Given the description of an element on the screen output the (x, y) to click on. 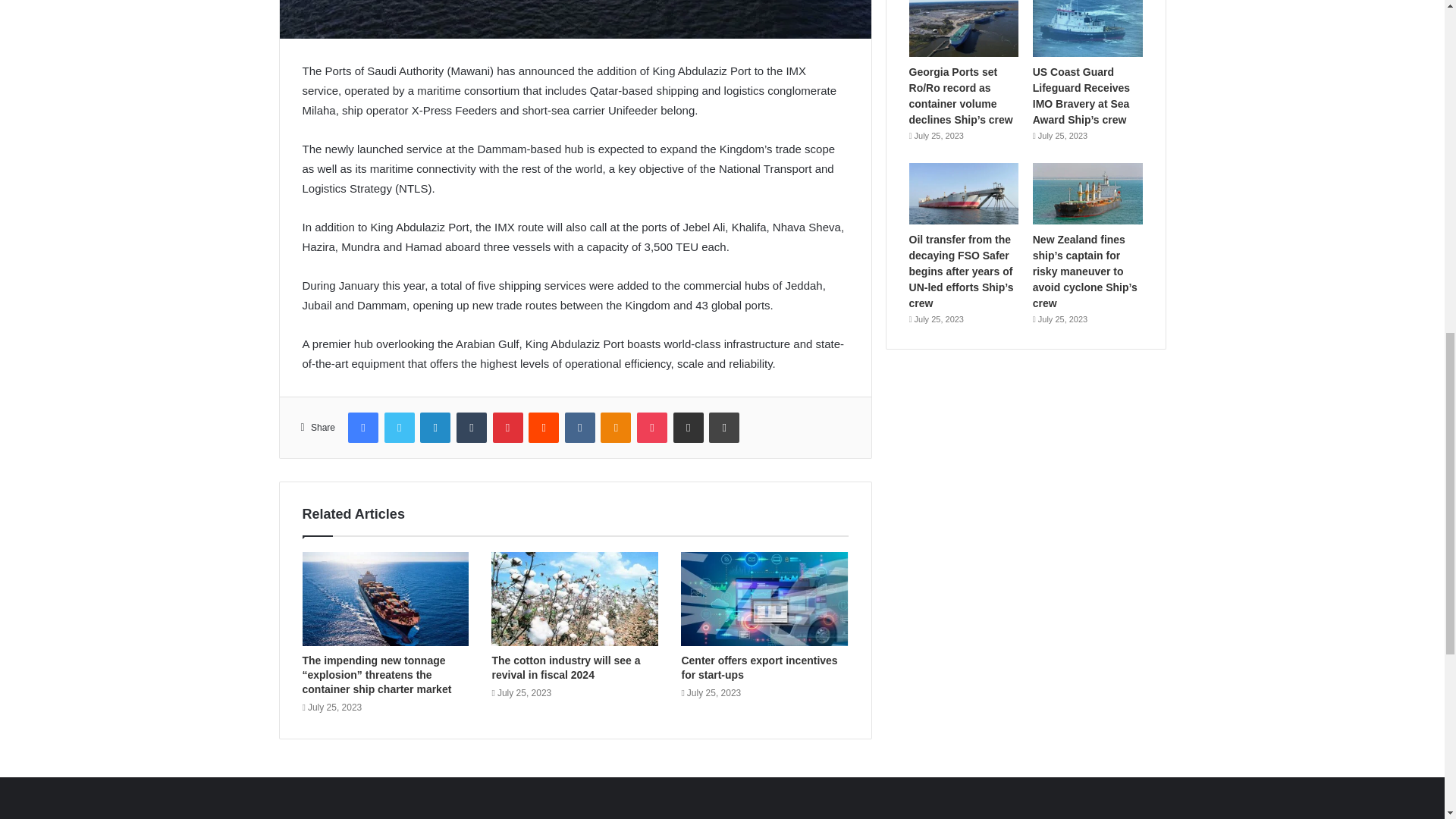
Share via Email (687, 427)
Tumblr (471, 427)
Pocket (651, 427)
LinkedIn (434, 427)
Odnoklassniki (614, 427)
Reddit (543, 427)
Pinterest (507, 427)
VKontakte (579, 427)
Facebook (362, 427)
Print (724, 427)
Twitter (399, 427)
